Given the description of an element on the screen output the (x, y) to click on. 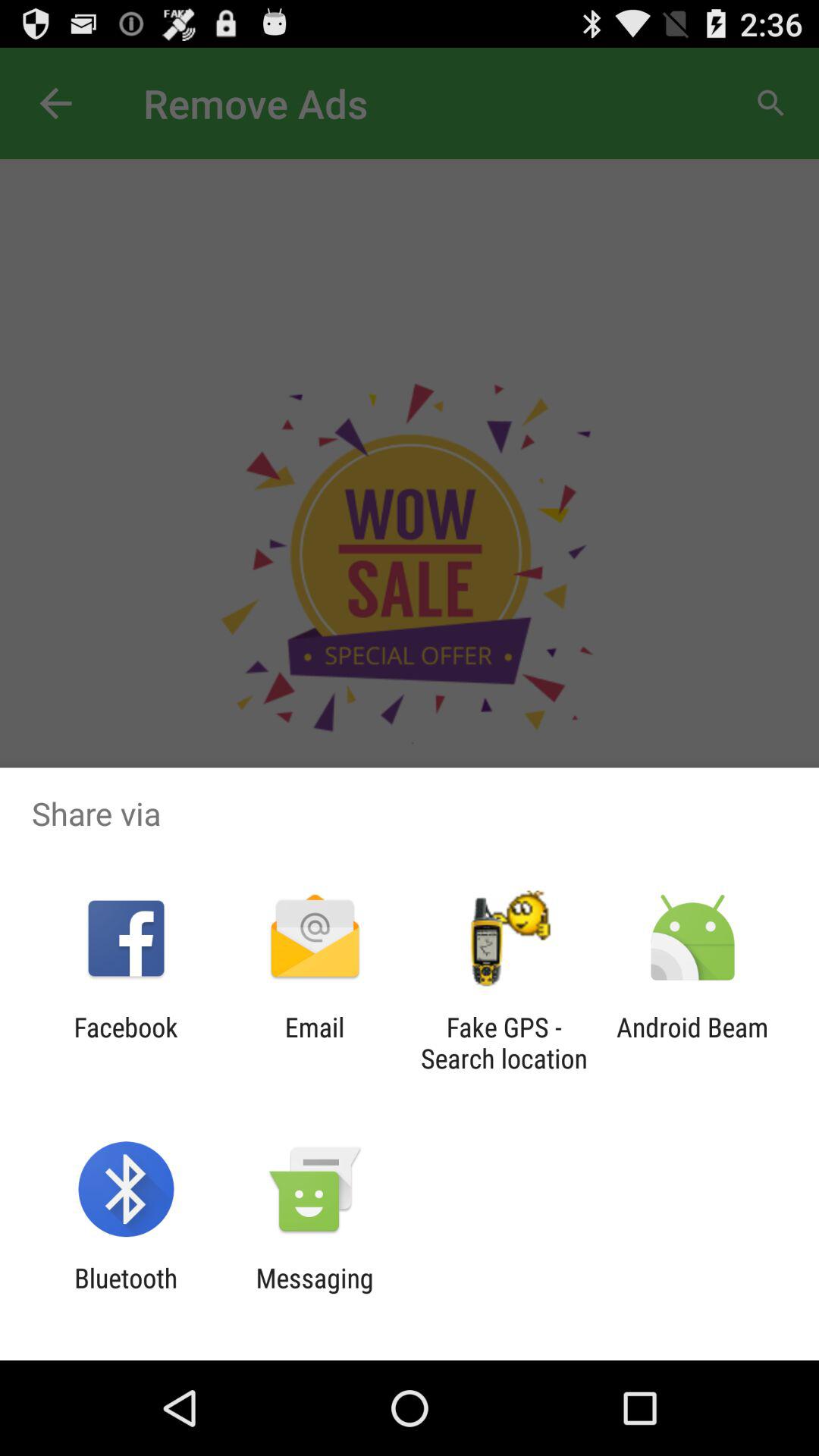
launch the icon next to the email (503, 1042)
